Given the description of an element on the screen output the (x, y) to click on. 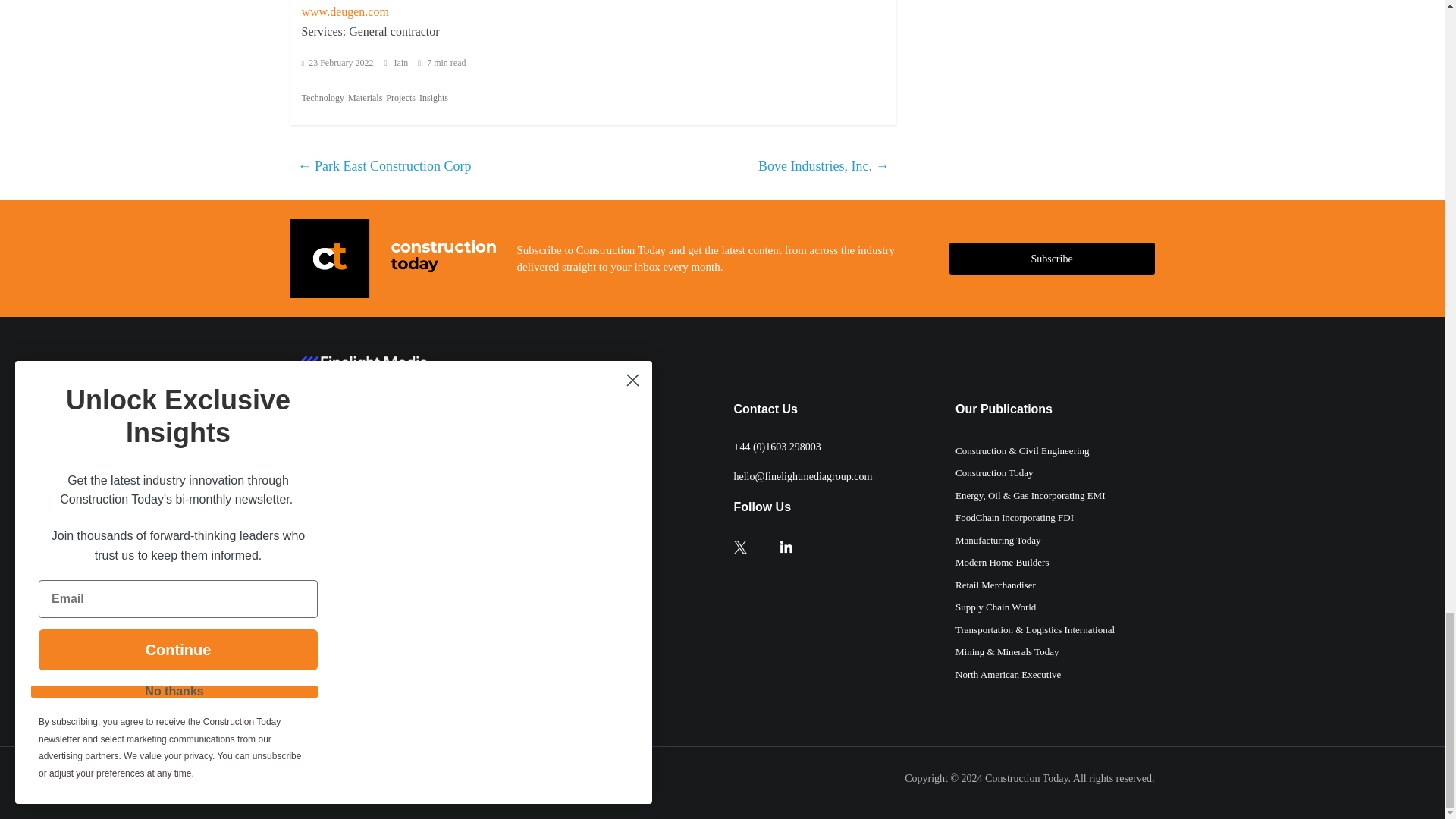
Technology (322, 97)
Iain (402, 62)
www.deugen.com (344, 11)
Materials (364, 97)
23 February 2022 (337, 62)
Projects (399, 97)
Construction Today (1026, 778)
11:12 am (337, 62)
Iain (402, 62)
